Given the description of an element on the screen output the (x, y) to click on. 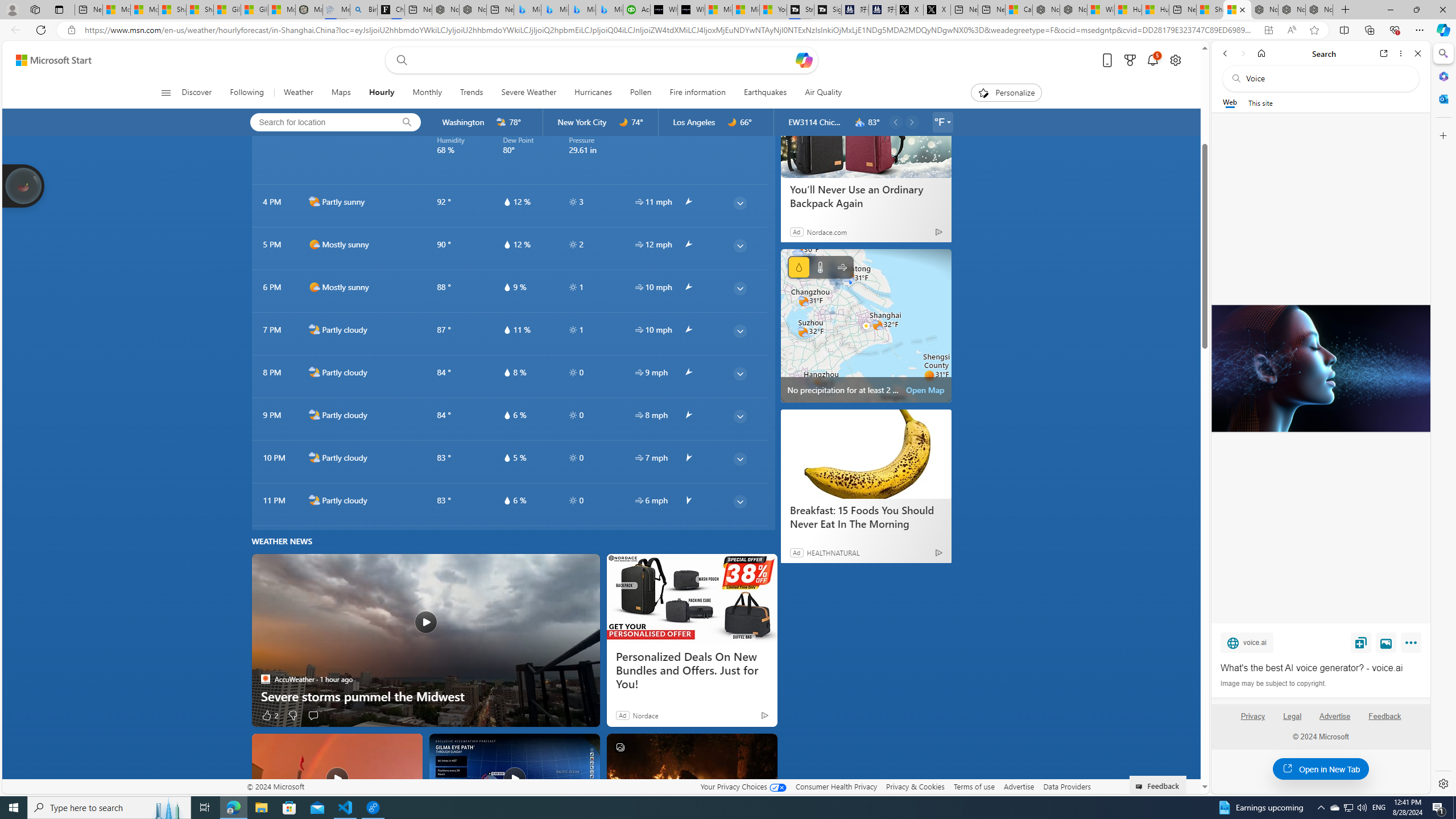
Severe storms pummel the Midwest (425, 695)
Air Quality (818, 92)
Wind (842, 267)
Terms of use (973, 786)
Shanghai, China hourly forecast | Microsoft Weather (1236, 9)
Monthly (427, 92)
locationBar/search (406, 121)
